Given the description of an element on the screen output the (x, y) to click on. 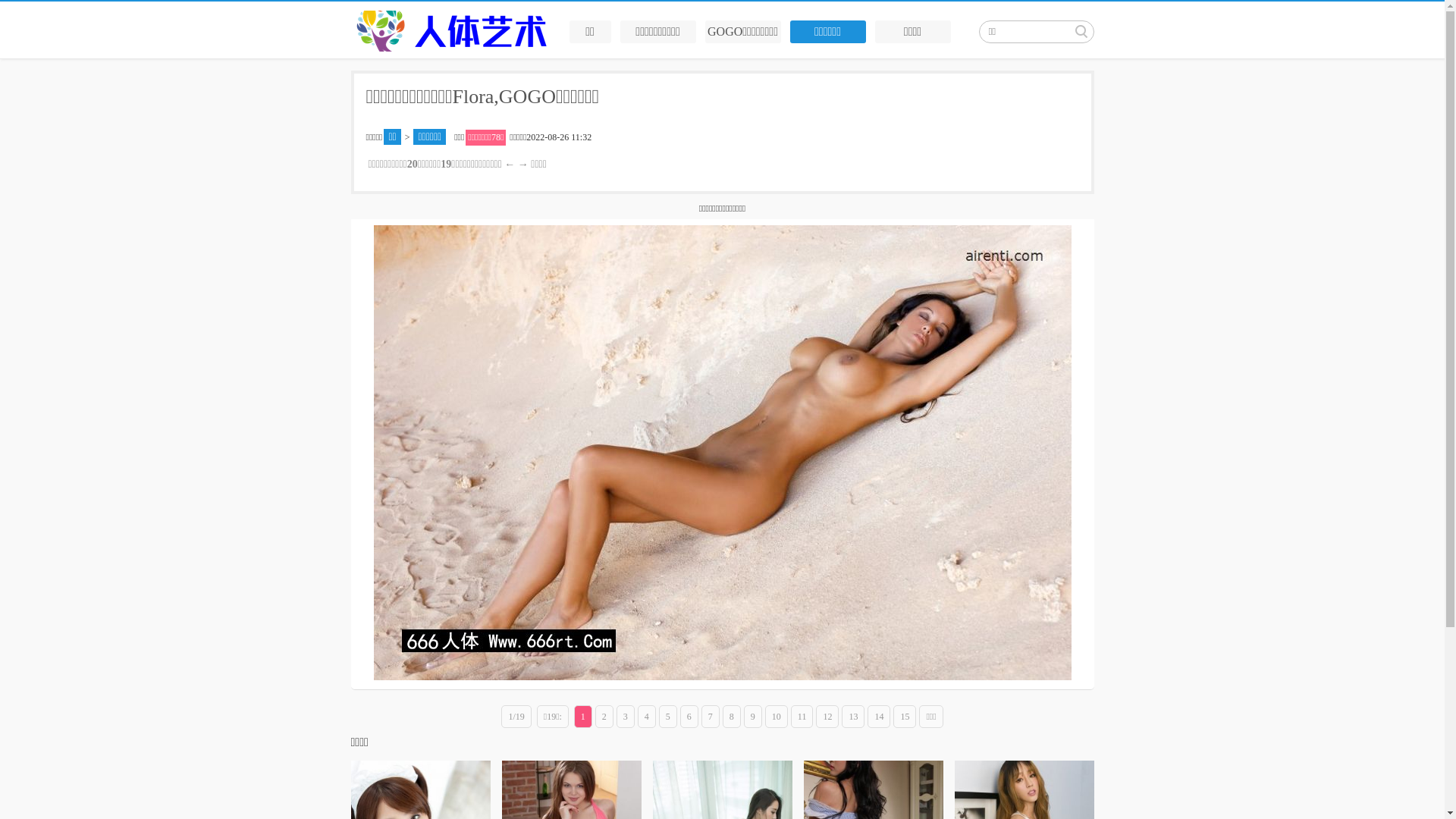
6 Element type: text (689, 716)
2 Element type: text (604, 716)
4 Element type: text (646, 716)
8 Element type: text (731, 716)
13 Element type: text (852, 716)
9 Element type: text (752, 716)
3 Element type: text (625, 716)
1/19 Element type: text (515, 716)
7 Element type: text (710, 716)
12 Element type: text (826, 716)
5 Element type: text (667, 716)
10 Element type: text (776, 716)
15 Element type: text (904, 716)
14 Element type: text (878, 716)
11 Element type: text (801, 716)
